Given the description of an element on the screen output the (x, y) to click on. 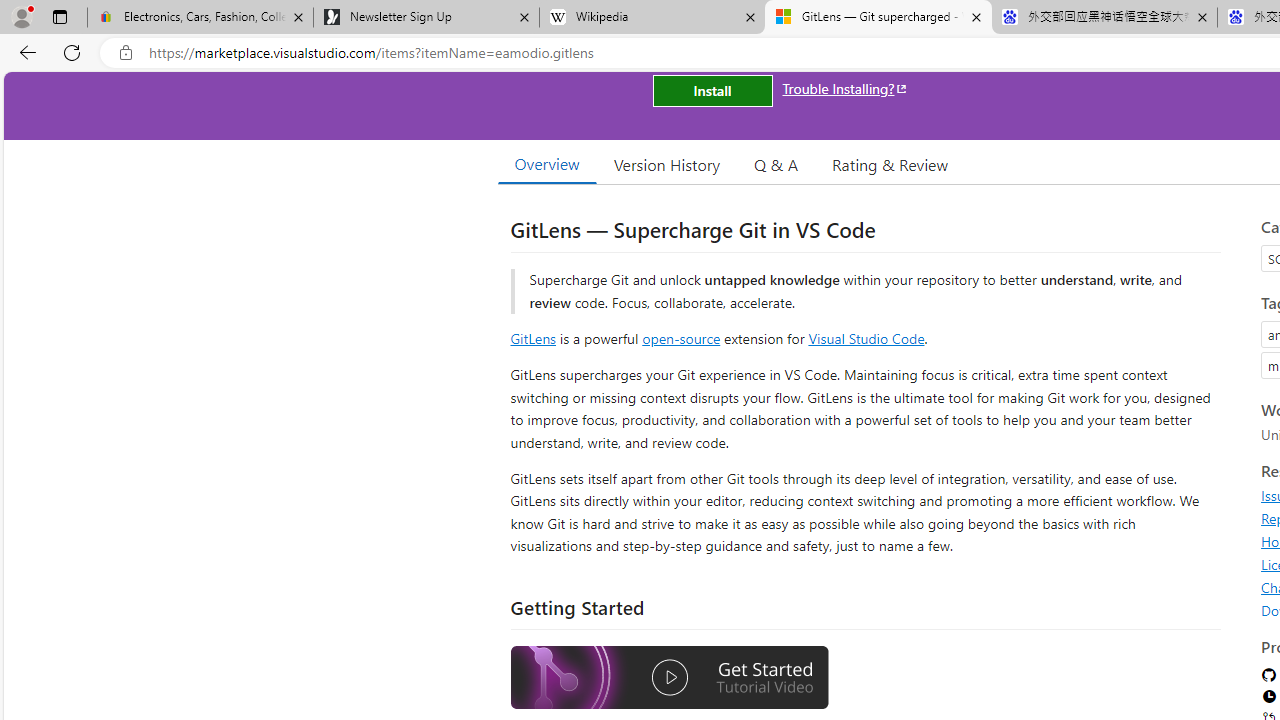
Visual Studio Code (866, 337)
Rating & Review (890, 164)
Overview (546, 164)
GitLens (532, 337)
Newsletter Sign Up (425, 17)
Version History (667, 164)
Watch the GitLens Getting Started video (669, 679)
Watch the GitLens Getting Started video (669, 678)
Wikipedia (652, 17)
